Given the description of an element on the screen output the (x, y) to click on. 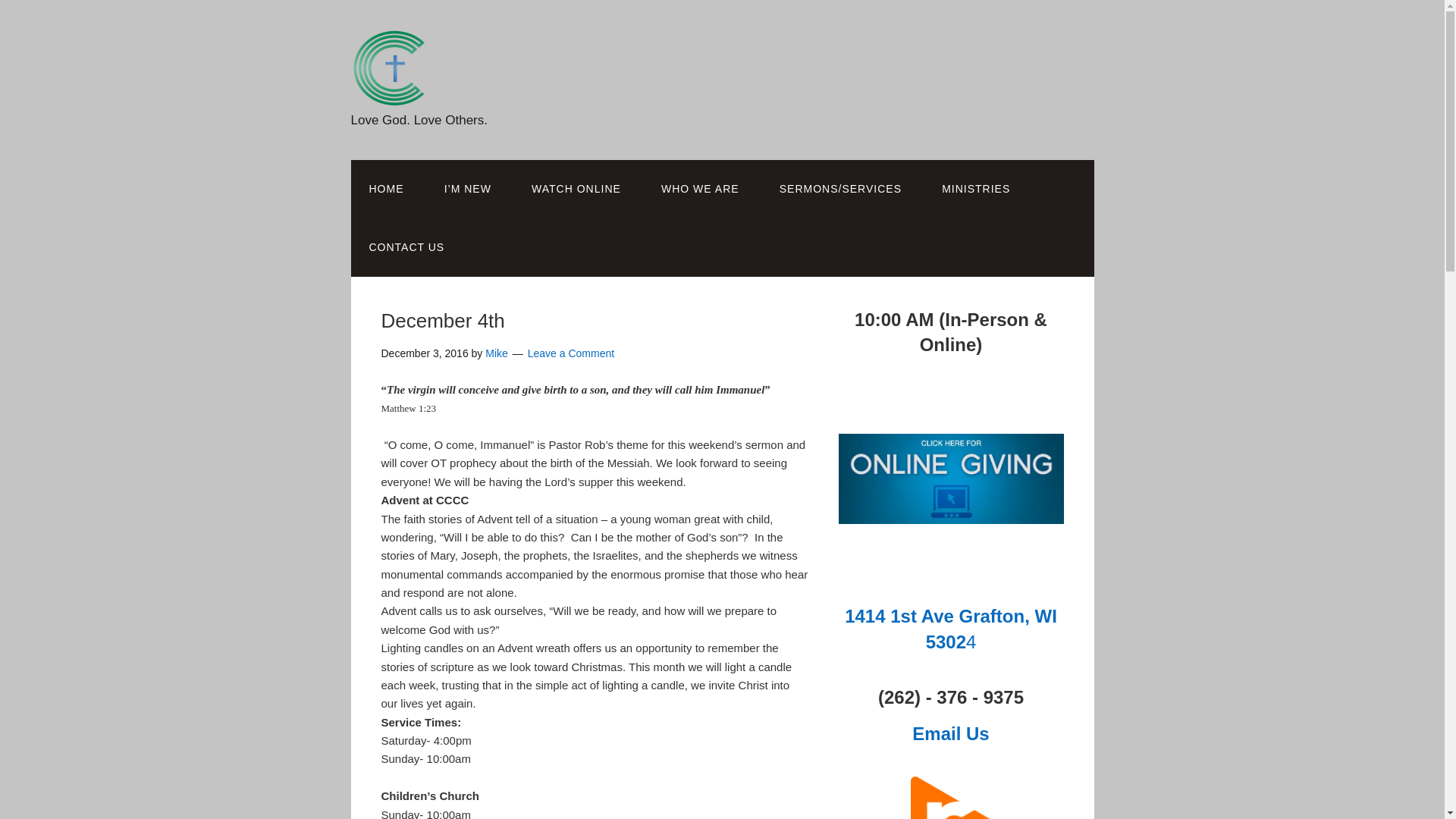
Cedar Creek Community Church (388, 94)
Posts by Mike (496, 353)
Mike (496, 353)
Leave a Comment (570, 353)
Email Us (950, 733)
HOME (386, 188)
WHO WE ARE (700, 188)
MINISTRIES (975, 188)
Saturday, December 3, 2016, 9:51 pm (423, 353)
1414 1st Ave Grafton, WI 53024 (950, 628)
WATCH ONLINE (576, 188)
CONTACT US (406, 247)
